Given the description of an element on the screen output the (x, y) to click on. 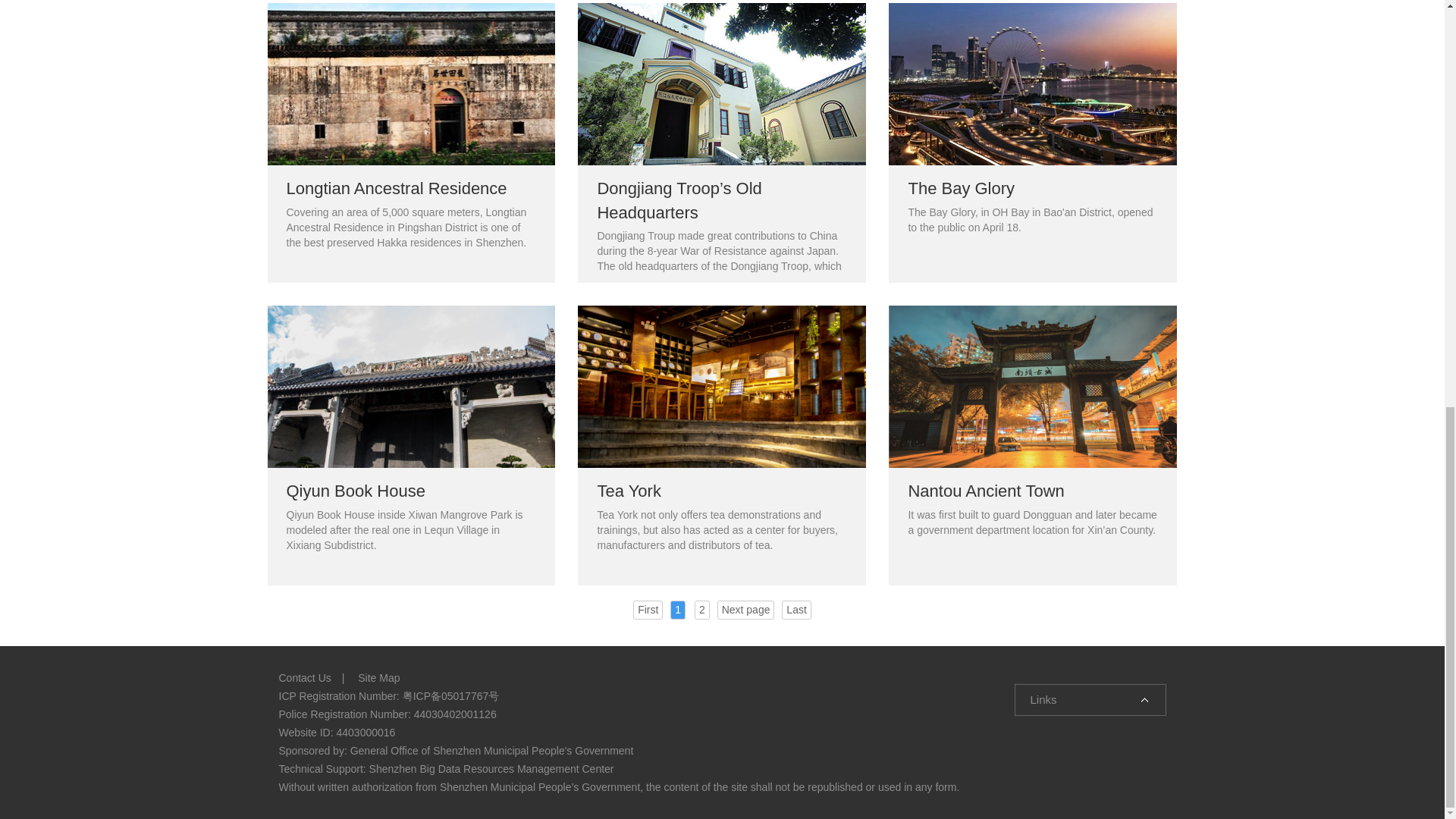
Nantou Ancient Town (1032, 445)
Tea York (722, 445)
Longtian Ancestral Residence (410, 142)
Qiyun Book House (410, 445)
The Bay Glory (1032, 142)
